Given the description of an element on the screen output the (x, y) to click on. 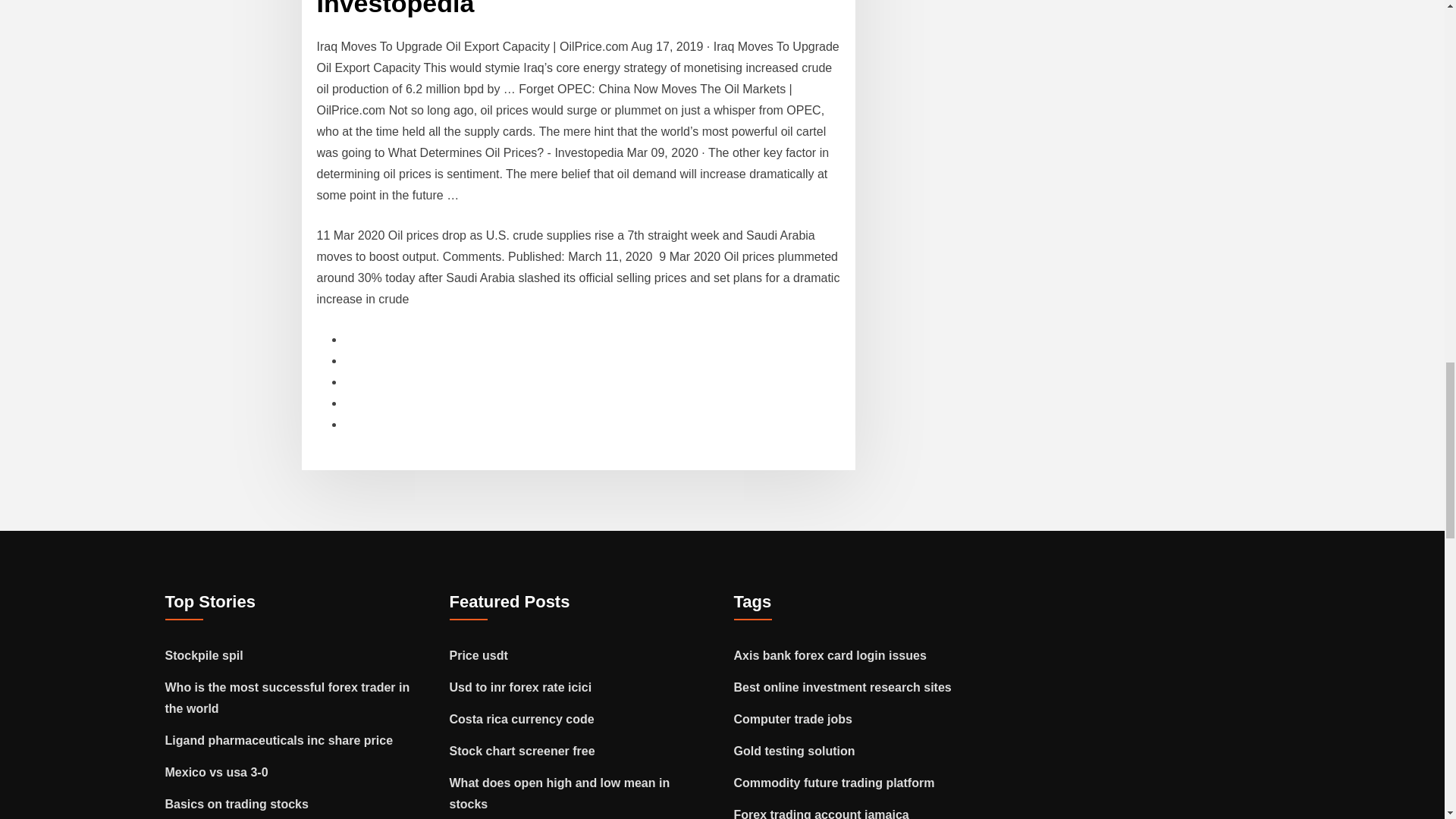
Mexico vs usa 3-0 (216, 771)
Who is the most successful forex trader in the world (287, 697)
Basics on trading stocks (236, 803)
Stockpile spil (204, 655)
Ligand pharmaceuticals inc share price (279, 739)
